Given the description of an element on the screen output the (x, y) to click on. 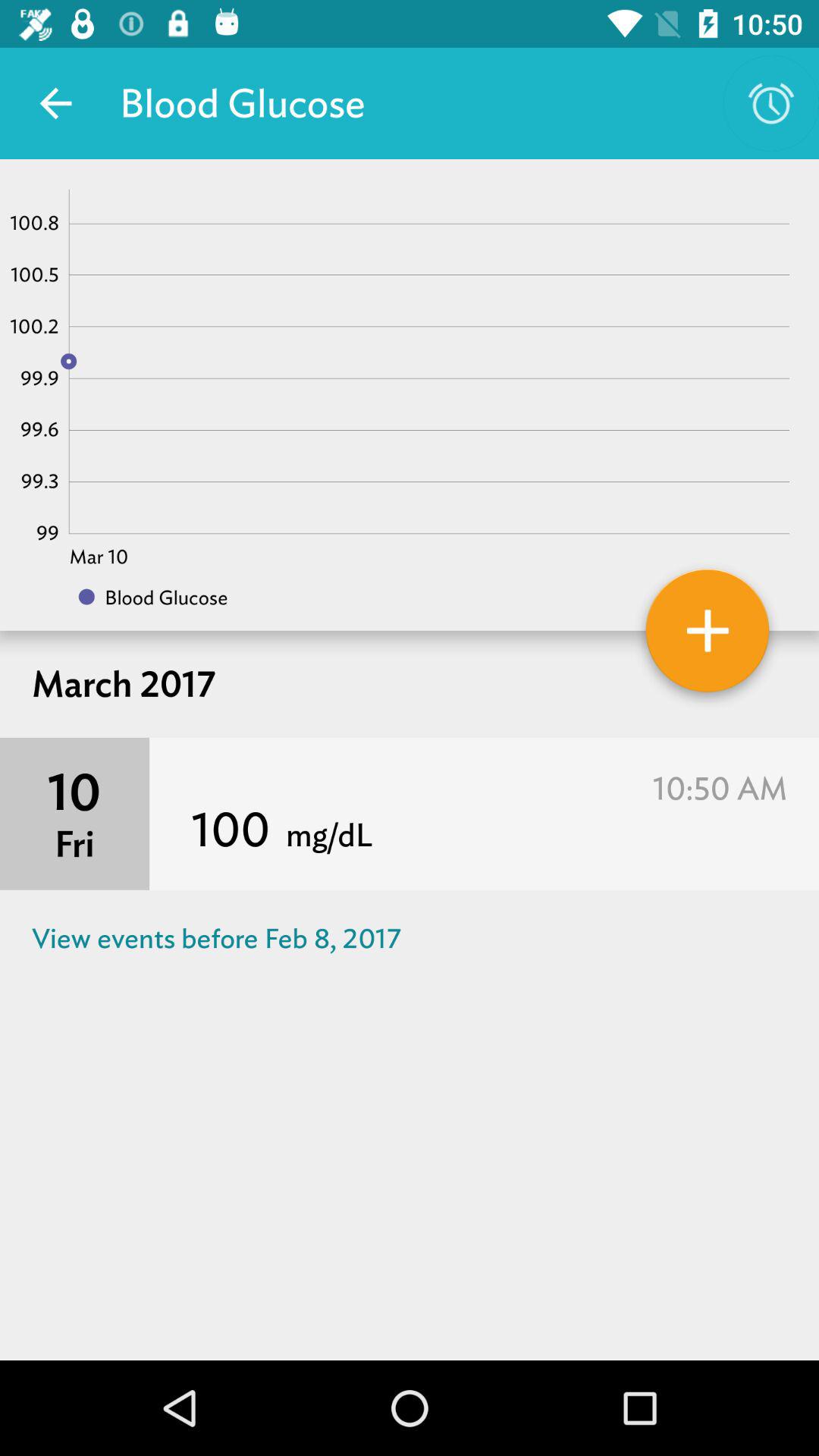
scroll until the march 2017 icon (409, 683)
